Given the description of an element on the screen output the (x, y) to click on. 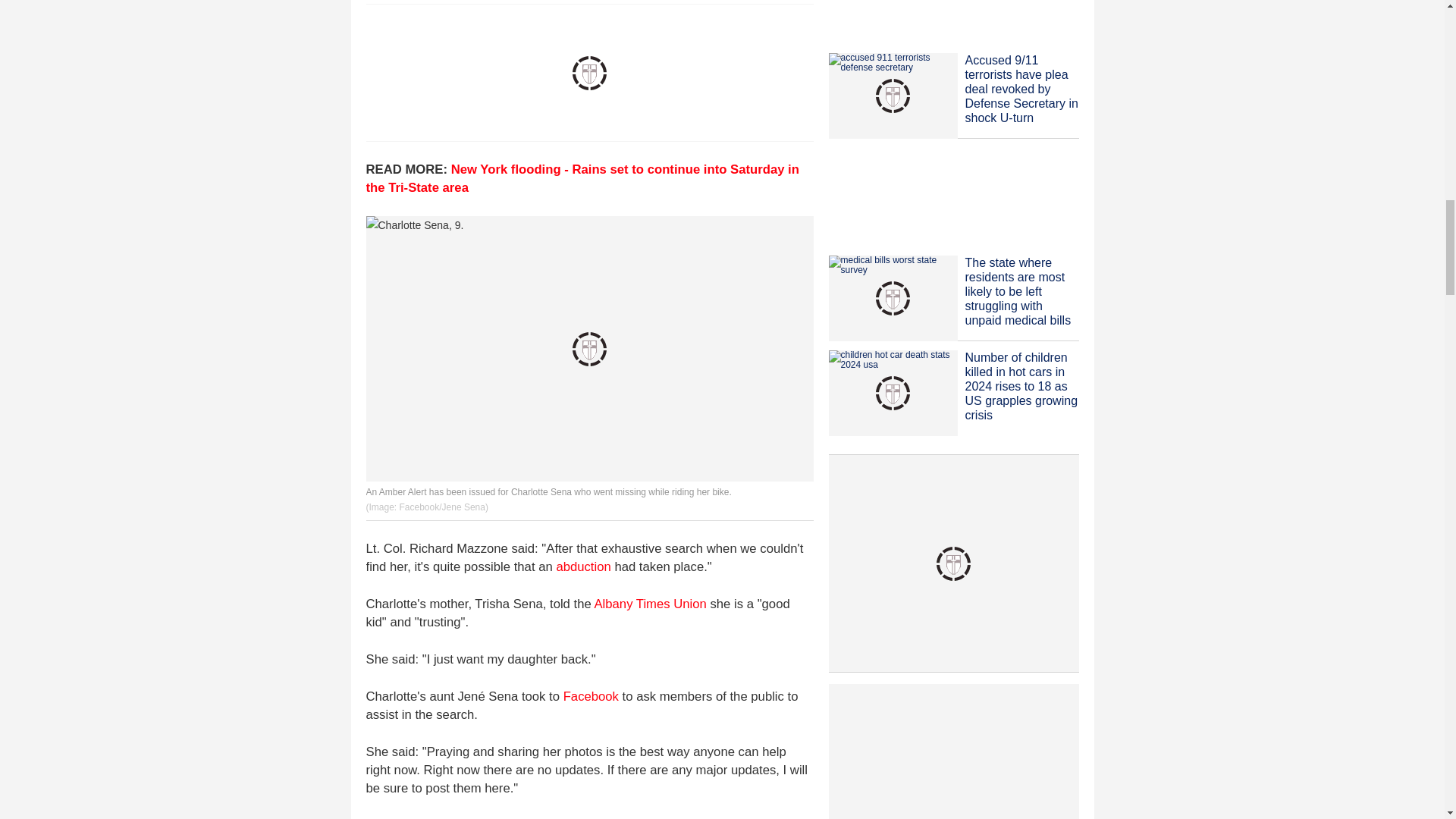
abduction (583, 566)
Charlotte Sena, 9.  (588, 348)
